Given the description of an element on the screen output the (x, y) to click on. 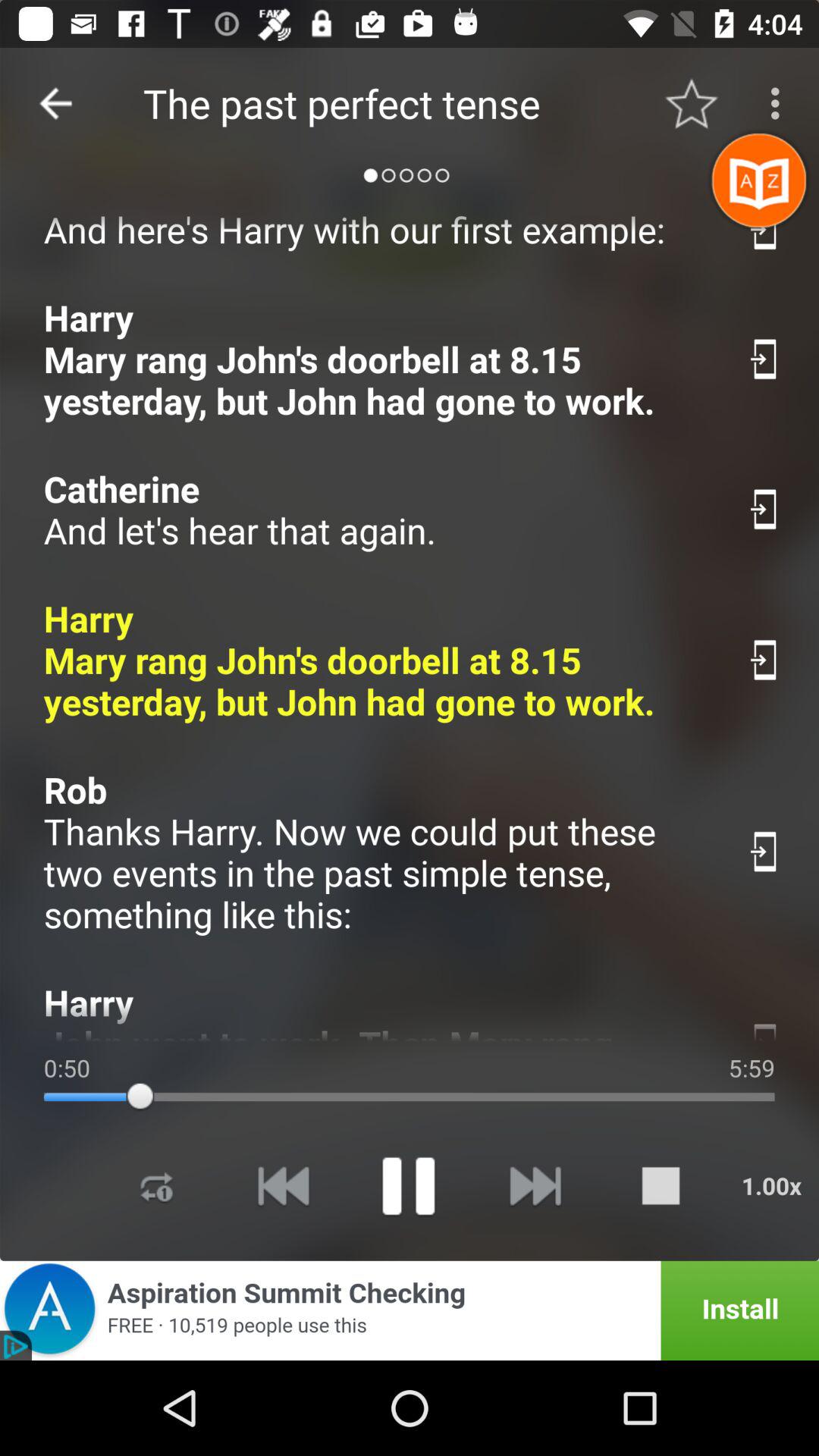
back (282, 1185)
